Given the description of an element on the screen output the (x, y) to click on. 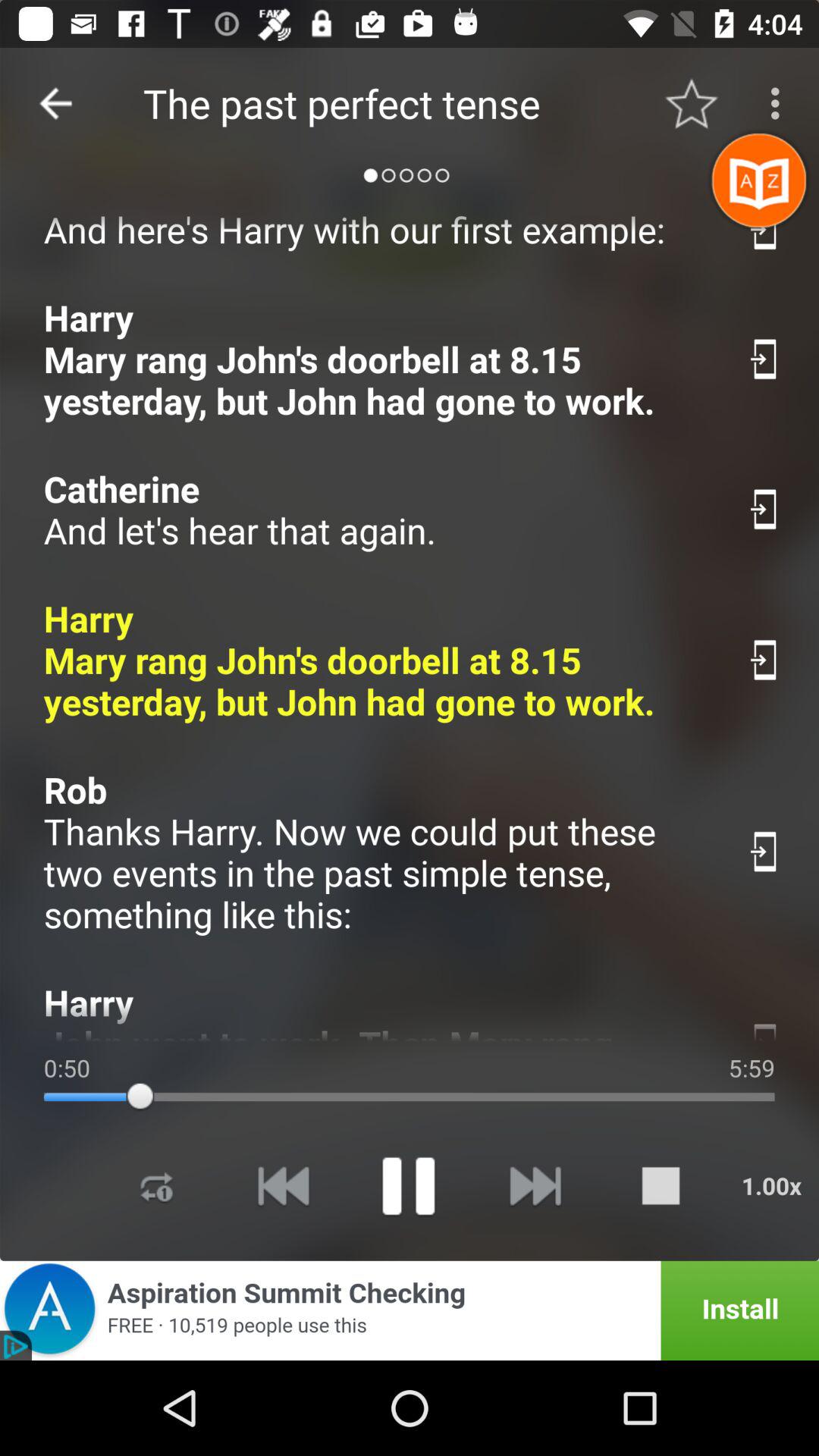
back (282, 1185)
